Given the description of an element on the screen output the (x, y) to click on. 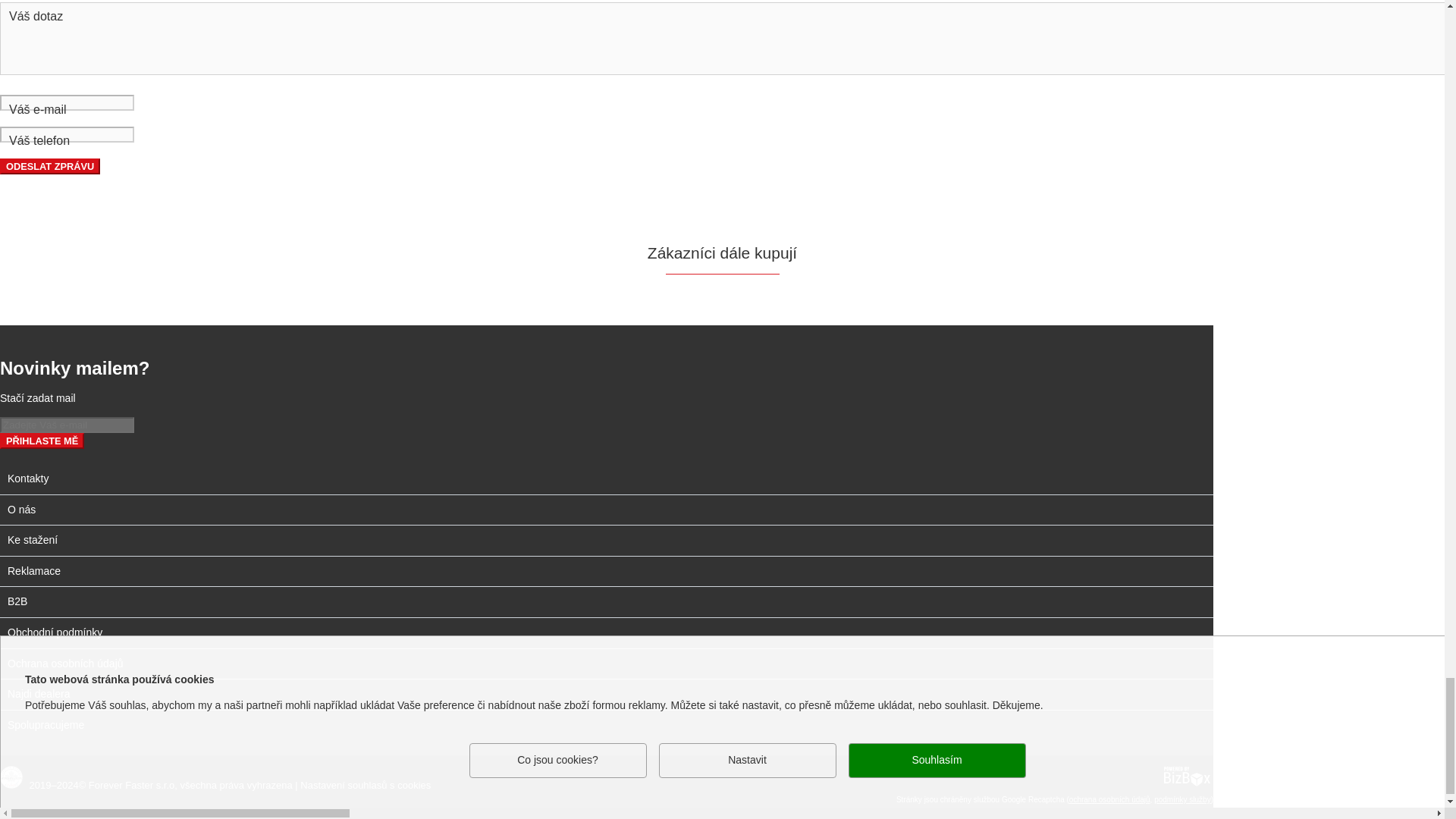
Powered by BizBox (1186, 775)
email (361, 102)
Bikeaction logo (11, 776)
